Given the description of an element on the screen output the (x, y) to click on. 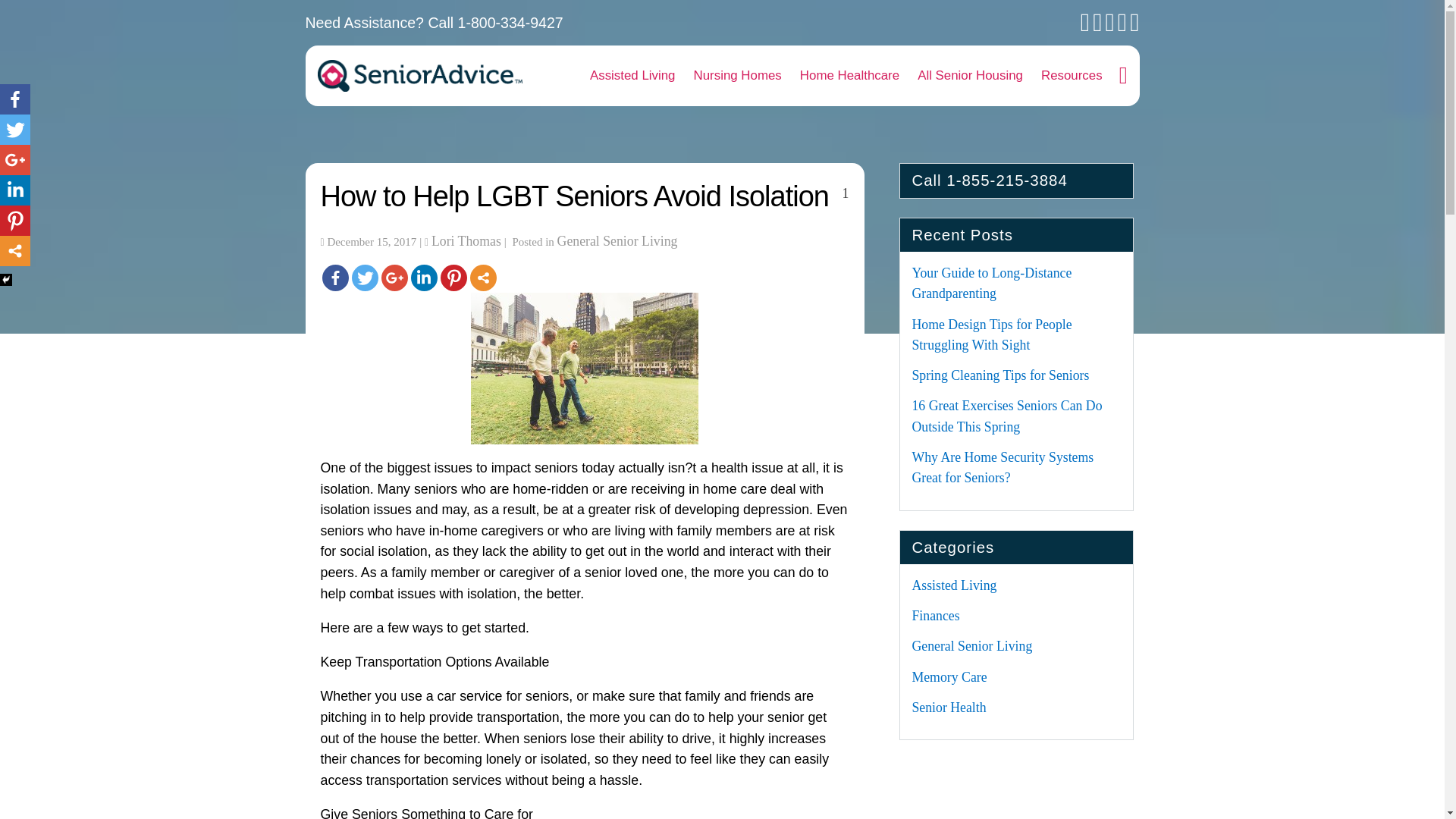
Hide (5, 279)
1-800-334-9427 (510, 22)
Pinterest (15, 220)
Google plus (15, 159)
Facebook (334, 277)
Twitter (365, 277)
Resources (1072, 75)
Home Healthcare (849, 75)
Assisted Living (632, 75)
More (15, 250)
Linkedin (15, 190)
Nursing Homes (737, 75)
All Senior Housing (970, 75)
Facebook (15, 99)
Linkedin (424, 277)
